Given the description of an element on the screen output the (x, y) to click on. 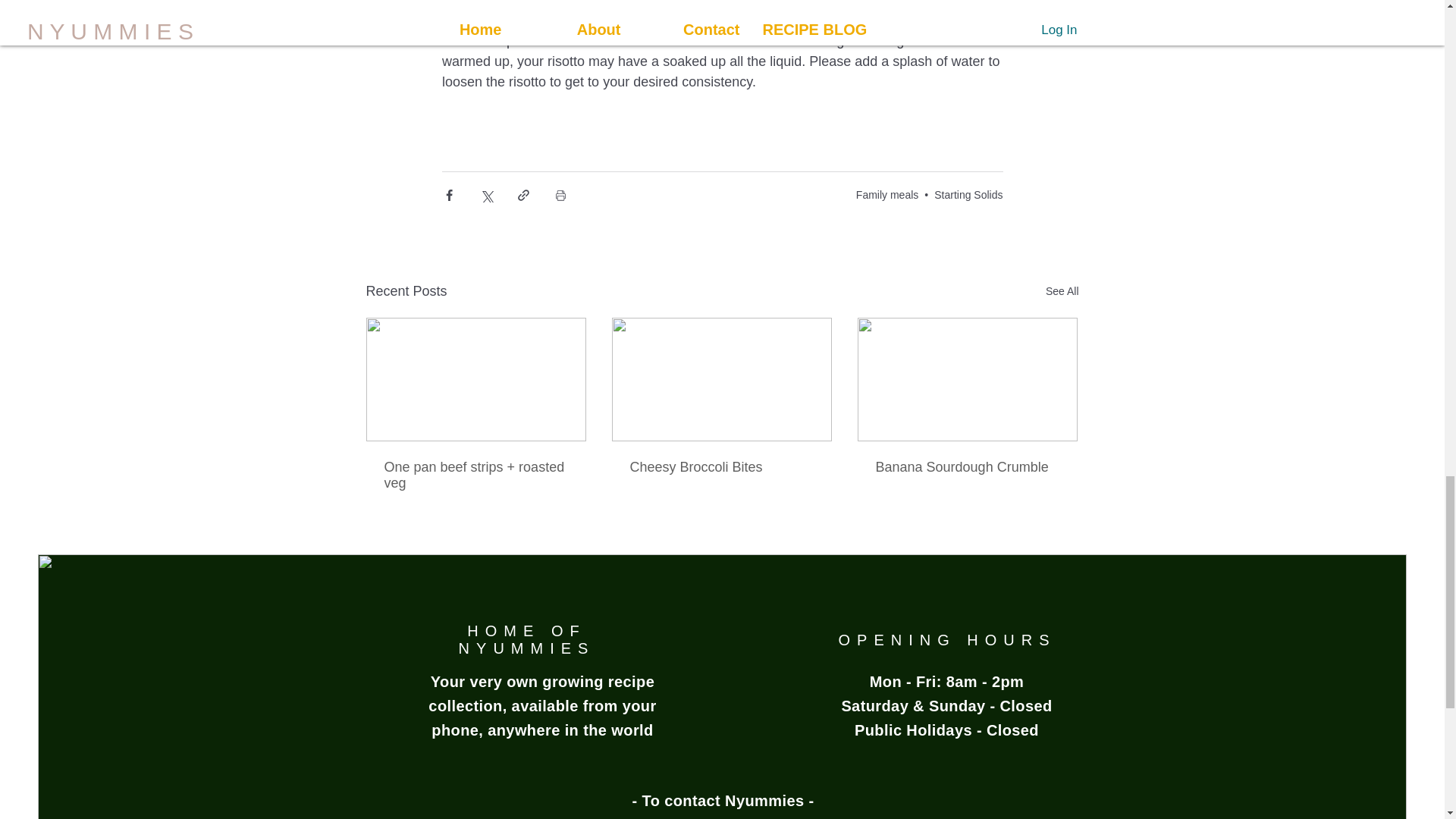
Banana Sourdough Crumble (966, 467)
Starting Solids (968, 193)
See All (1061, 291)
Family meals (887, 193)
Cheesy Broccoli Bites (720, 467)
